Given the description of an element on the screen output the (x, y) to click on. 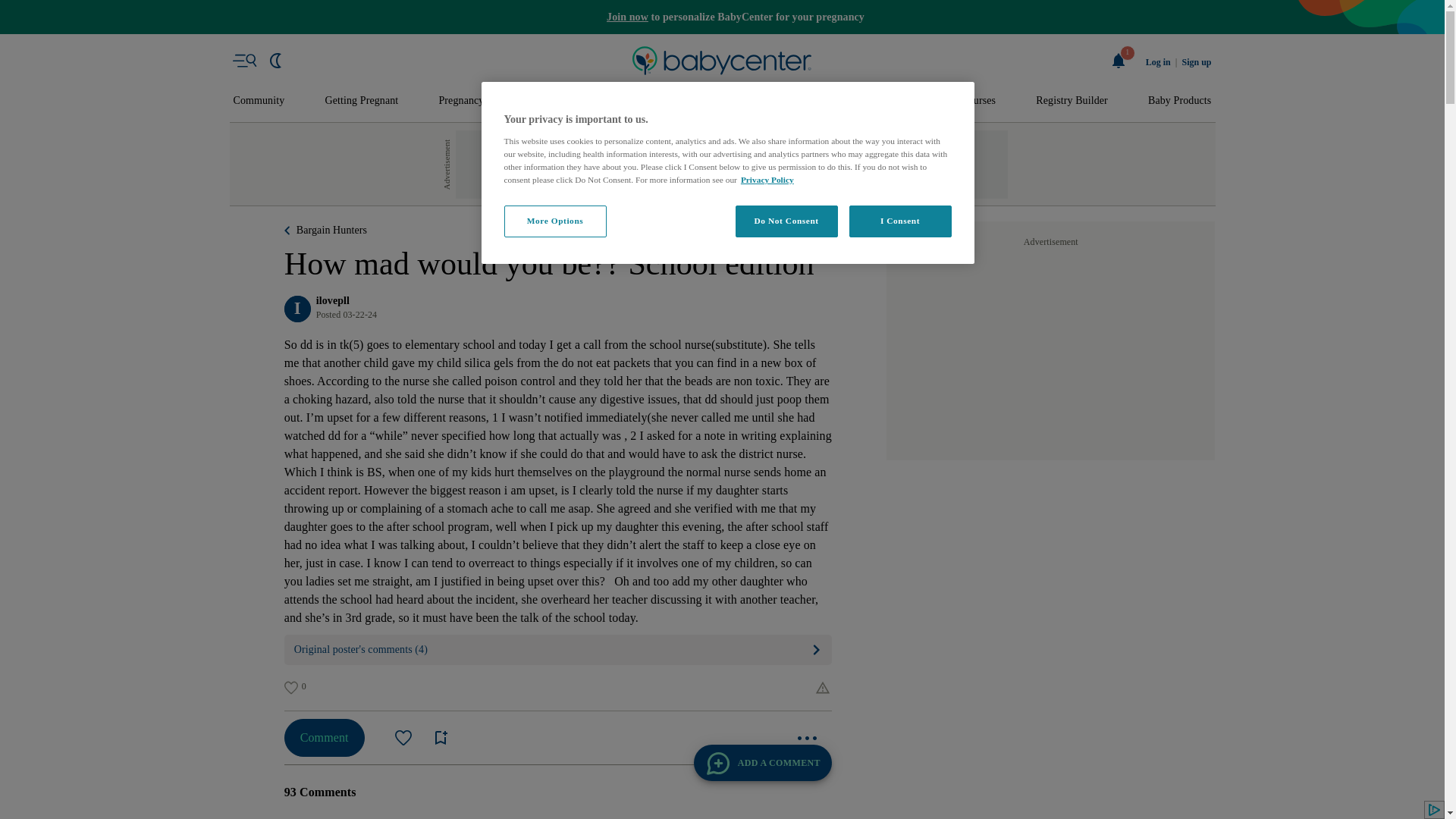
Community (258, 101)
Family (904, 101)
Toddler (699, 101)
Getting Pregnant (360, 101)
Baby Products (1179, 101)
Courses (977, 101)
Child (768, 101)
Registry Builder (1071, 101)
Baby (631, 101)
Health (835, 101)
Baby Names (551, 101)
Pregnancy (460, 101)
Log in (1157, 61)
Sign up (1195, 61)
1 (1118, 60)
